Given the description of an element on the screen output the (x, y) to click on. 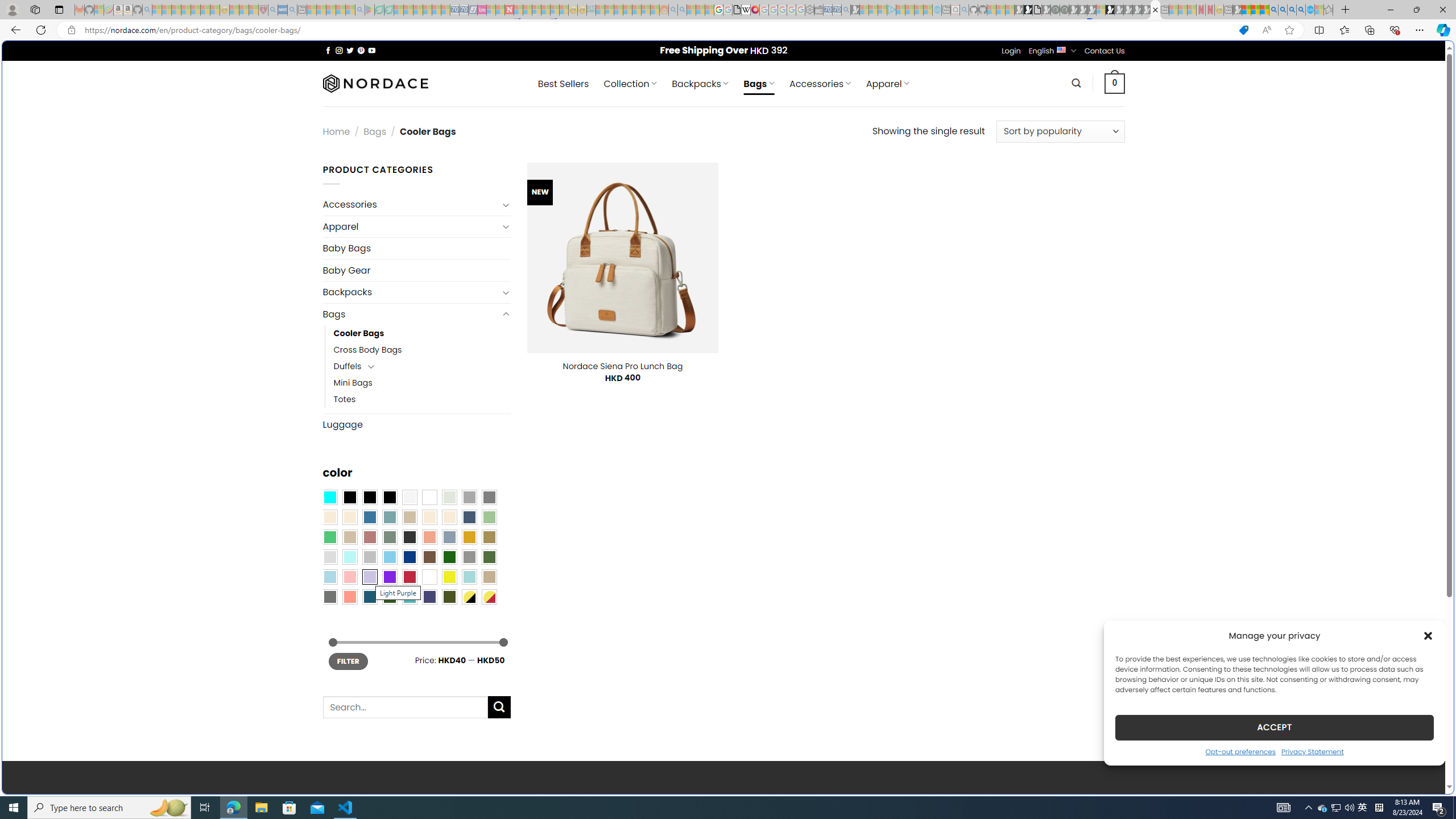
Kinda Frugal - MSN - Sleeping (636, 9)
Sign in to your account - Sleeping (1100, 9)
Nordace Siena Pro Lunch Bag (622, 365)
Bags (410, 314)
Purple Navy (429, 596)
Follow on YouTube (371, 49)
Play Zoo Boom in your browser | Games from Microsoft Start (1027, 9)
  0   (1115, 83)
